Given the description of an element on the screen output the (x, y) to click on. 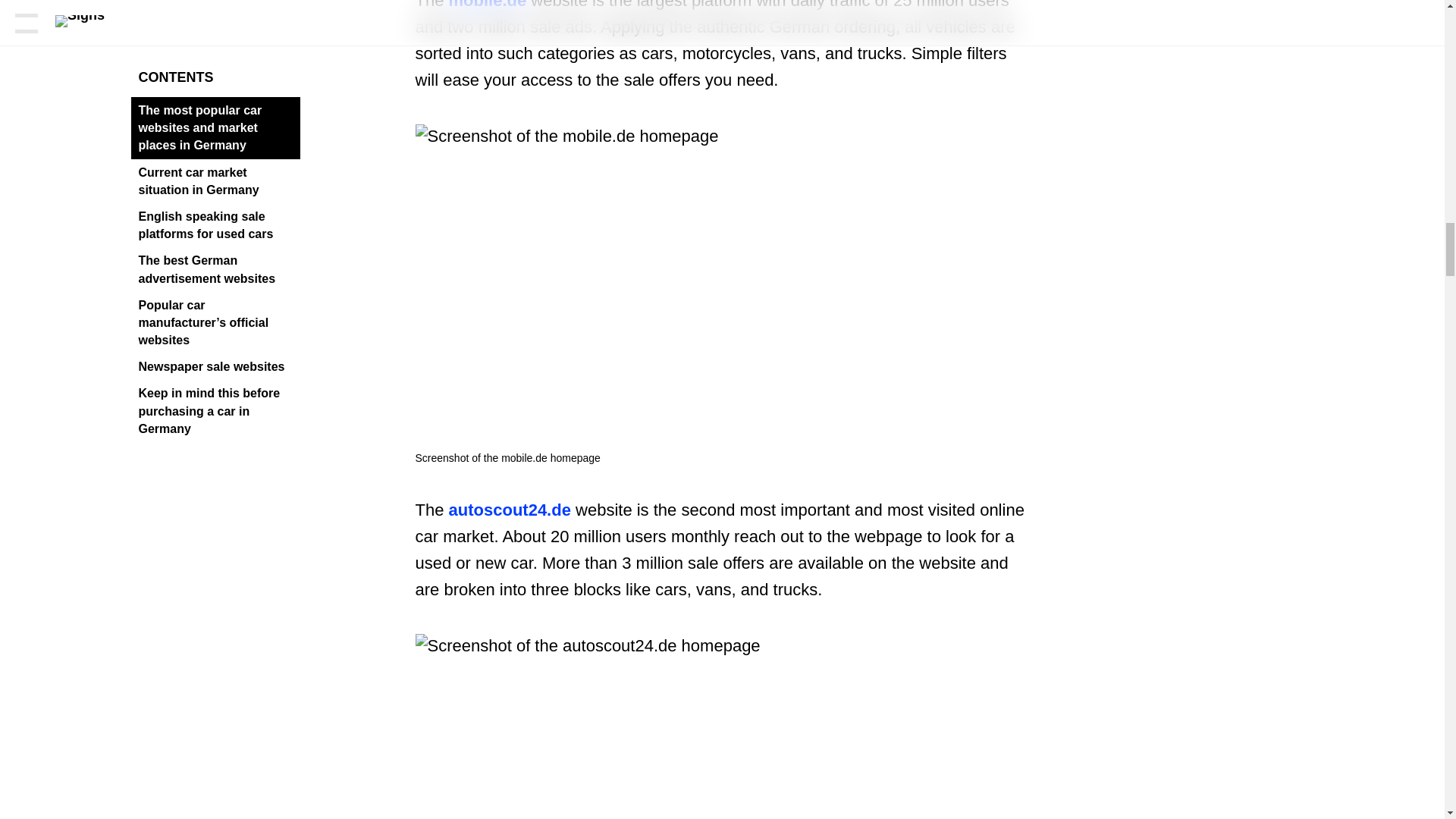
Screenshot of the autoscout24.de homepage (721, 726)
autoscout24.de (509, 509)
mobile.de (487, 4)
